Given the description of an element on the screen output the (x, y) to click on. 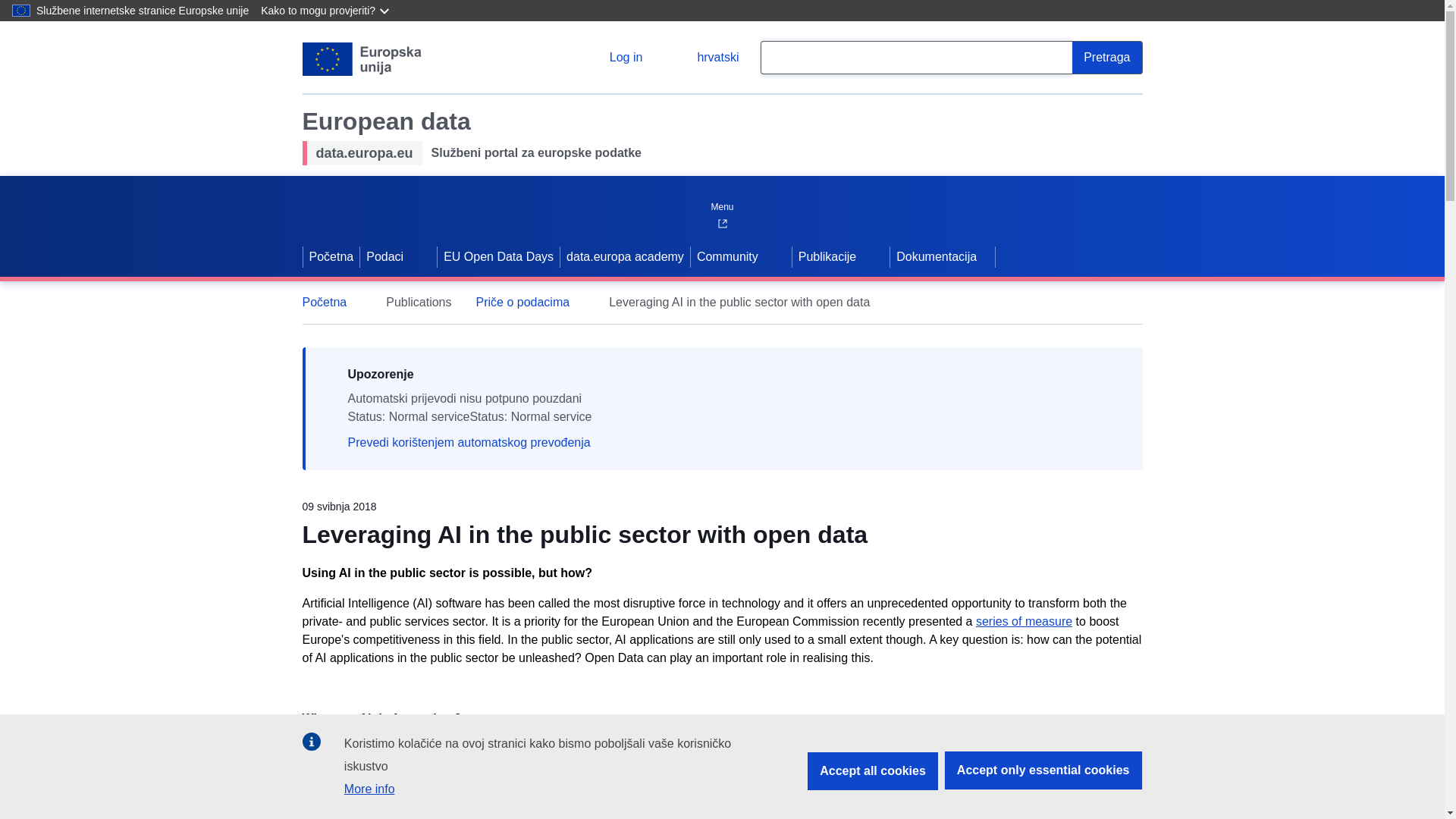
EU Open Data Days (498, 256)
Community (725, 256)
Kako to mogu provjeriti? (325, 10)
Dokumentacija (941, 256)
hrvatski (706, 57)
Podaci (382, 256)
Pretraga (1106, 57)
Menu (721, 203)
Log in (614, 57)
European Union (361, 59)
Publikacije (825, 256)
data.europa academy (625, 256)
